Given the description of an element on the screen output the (x, y) to click on. 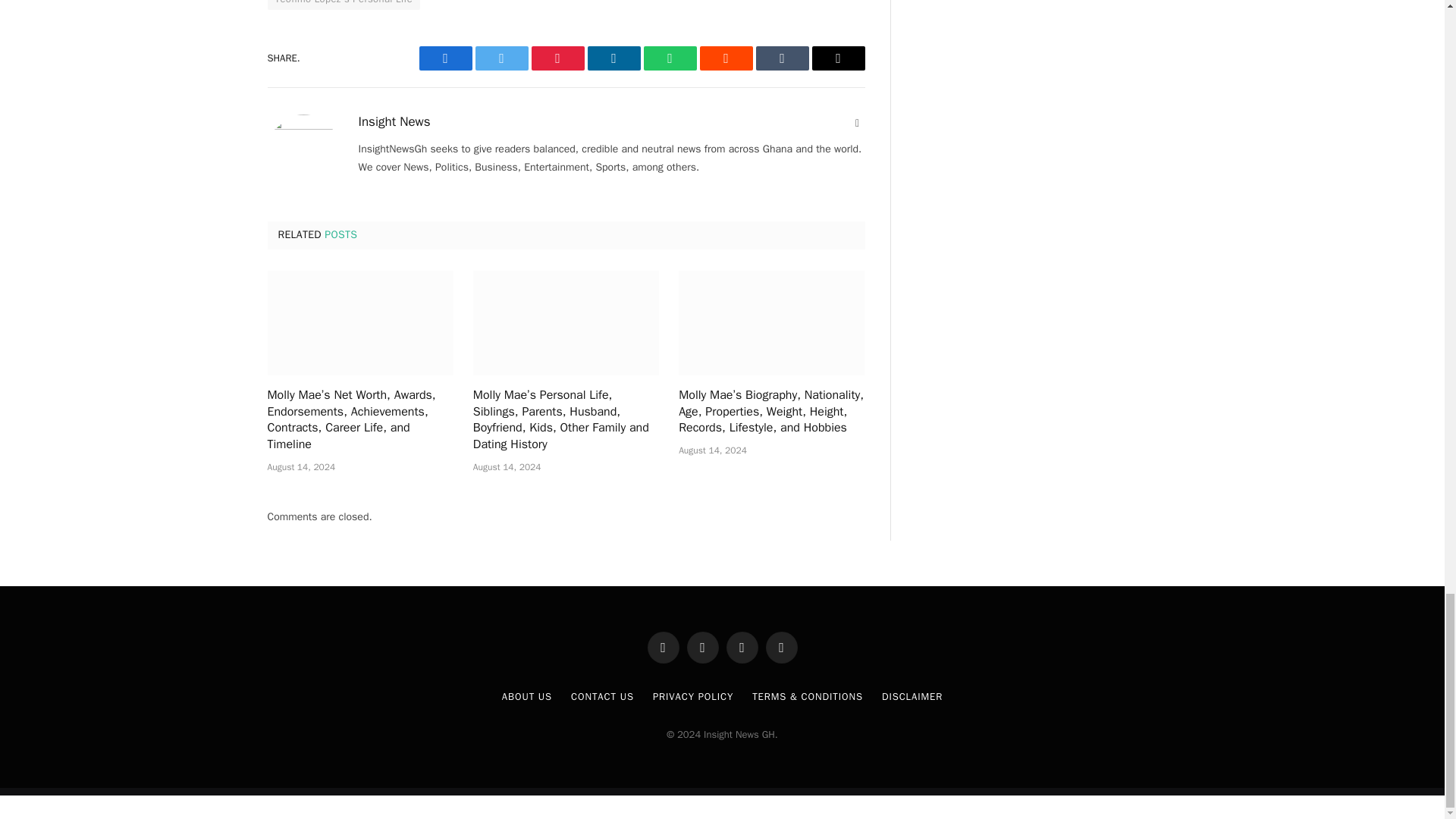
Facebook (445, 57)
Teofimo Lopez's Personal Life (343, 4)
Share on Facebook (445, 57)
